Given the description of an element on the screen output the (x, y) to click on. 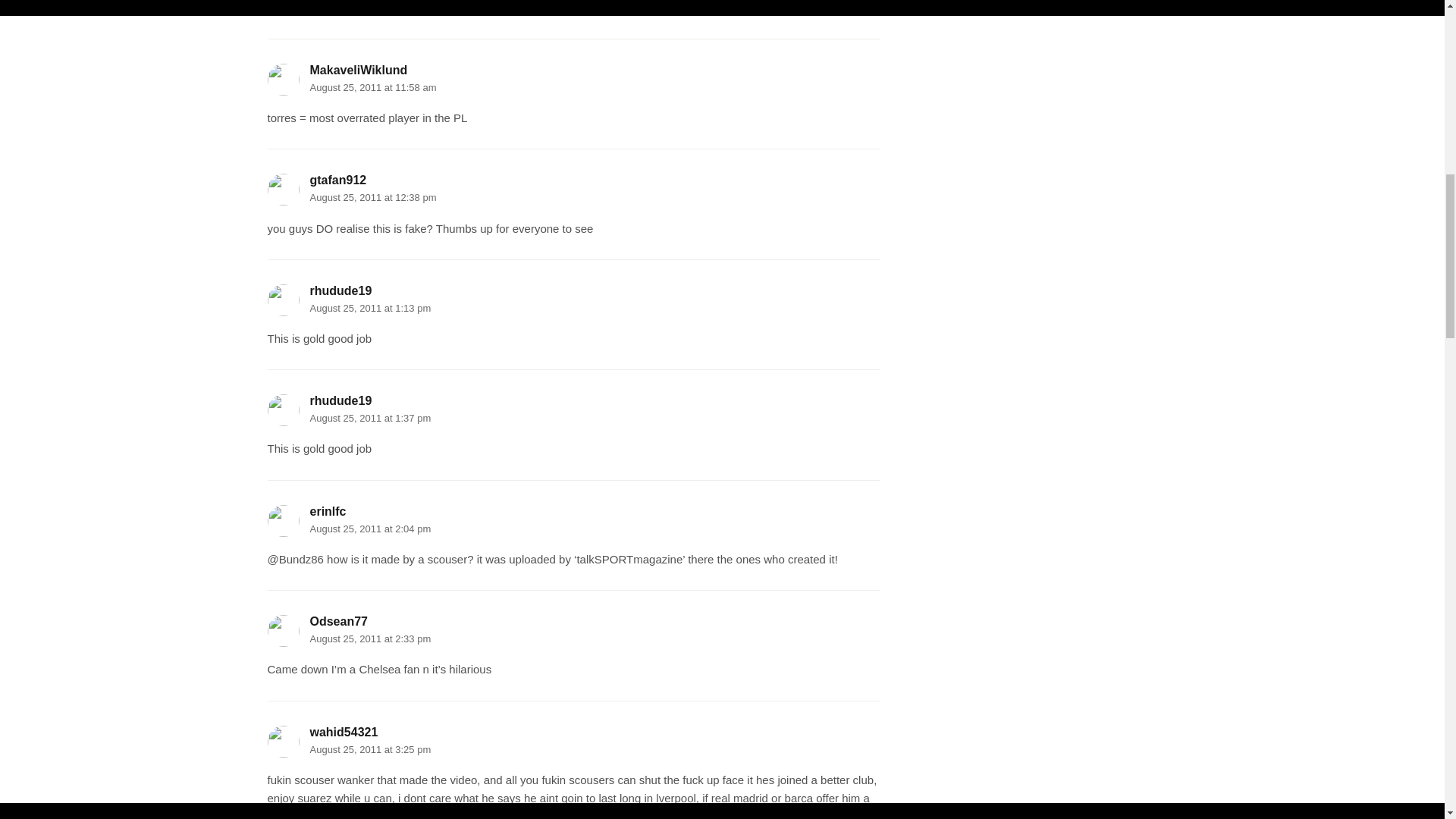
August 25, 2011 at 3:25 pm (369, 749)
August 25, 2011 at 11:58 am (371, 87)
August 25, 2011 at 1:37 pm (369, 418)
August 25, 2011 at 12:38 pm (371, 197)
August 25, 2011 at 2:04 pm (369, 528)
August 25, 2011 at 1:13 pm (369, 307)
August 25, 2011 at 2:33 pm (369, 638)
